Given the description of an element on the screen output the (x, y) to click on. 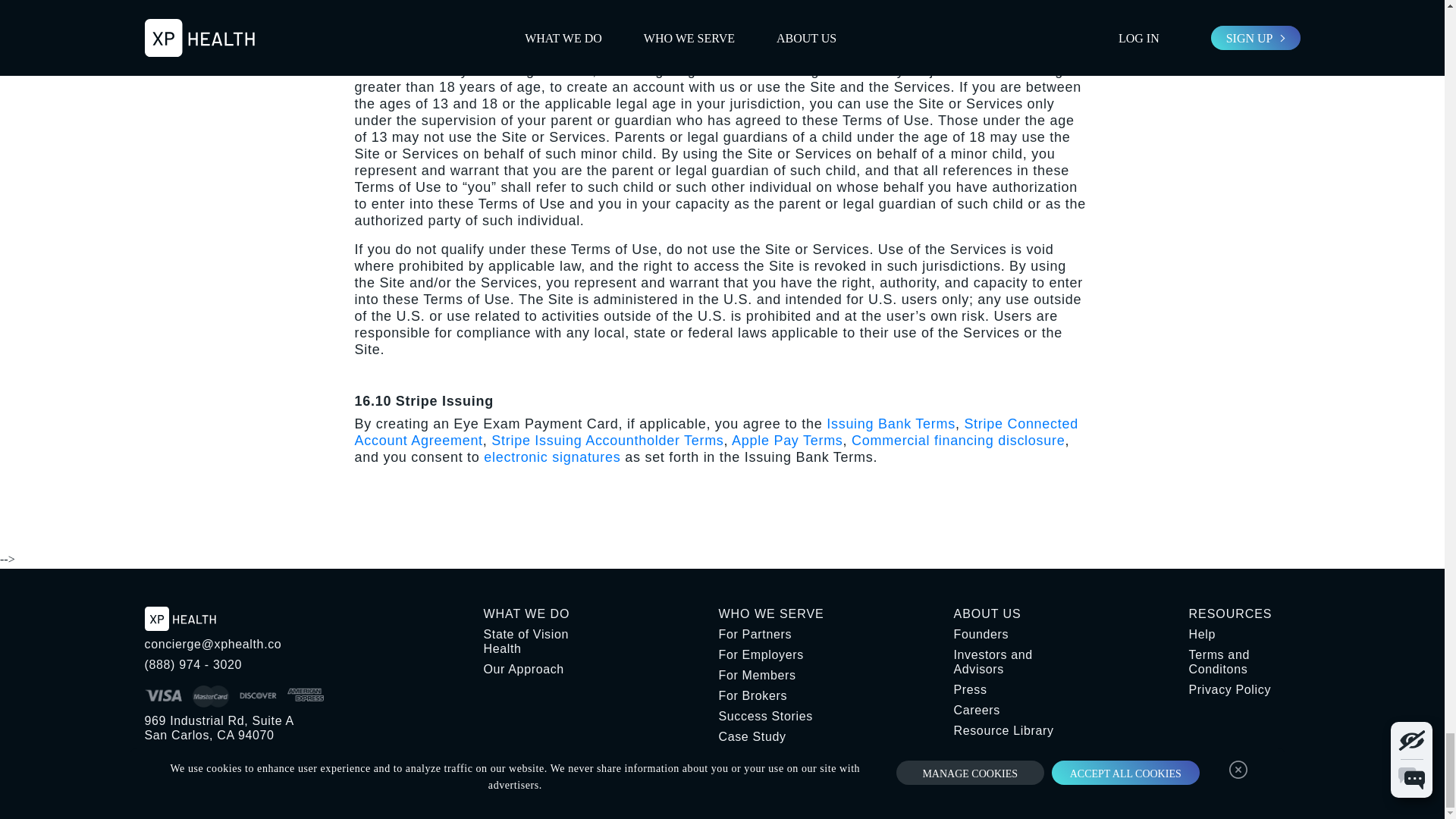
Apple Pay Terms (787, 440)
Our Approach (539, 668)
Commercial financing disclosure (957, 440)
Success Stories (774, 716)
Case Study (774, 736)
Stripe Connected Account Agreement (716, 431)
For Employers (774, 654)
Stripe Issuing Accountholder Terms (607, 440)
State of Vision Health (539, 641)
electronic signatures (551, 457)
Founders (1009, 634)
For Brokers (774, 695)
For Partners (774, 634)
Issuing Bank Terms (891, 423)
For Members (774, 675)
